Given the description of an element on the screen output the (x, y) to click on. 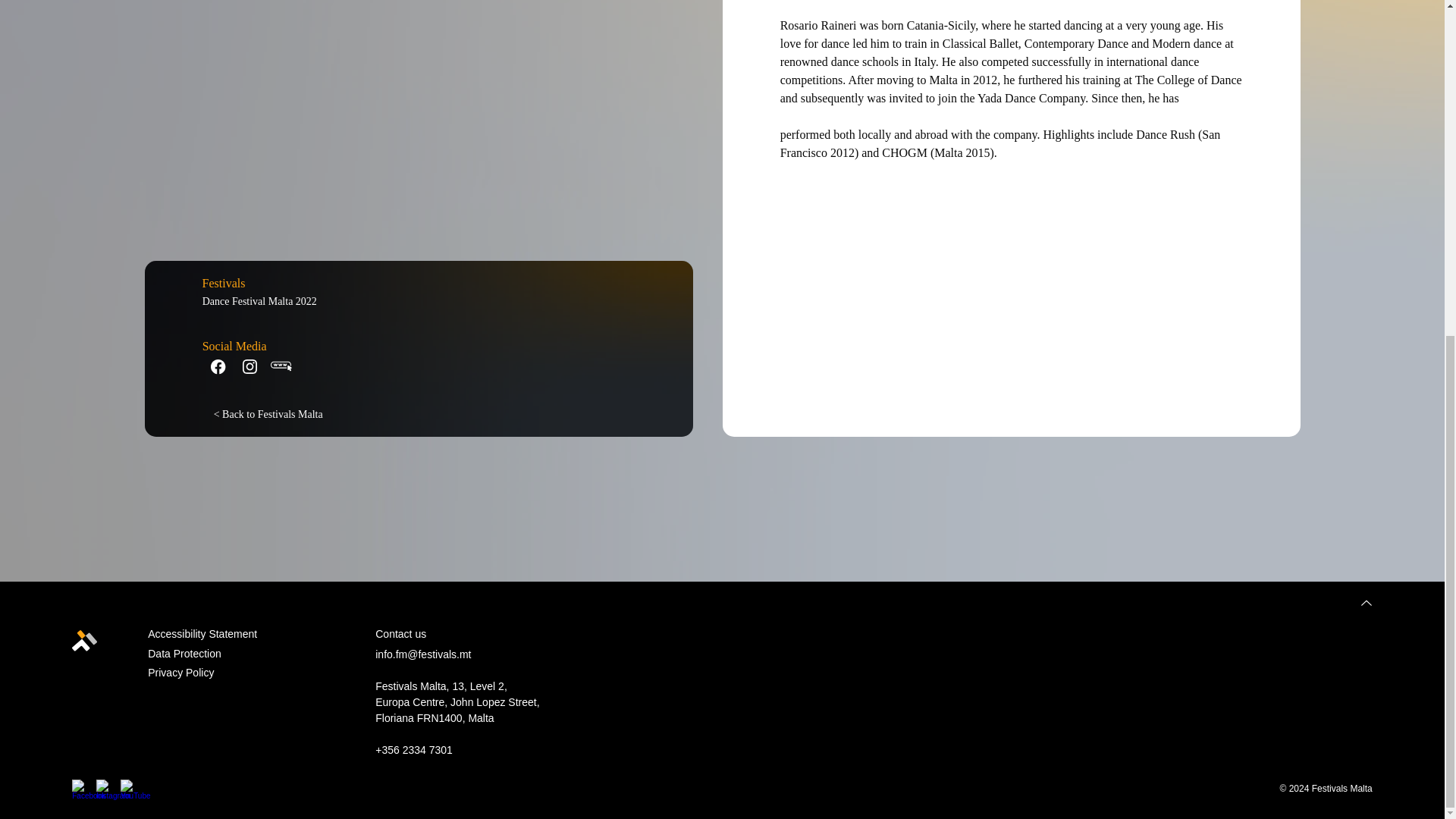
Accessibility Statement (202, 633)
Privacy Policy (181, 672)
Data Protection (184, 653)
